Given the description of an element on the screen output the (x, y) to click on. 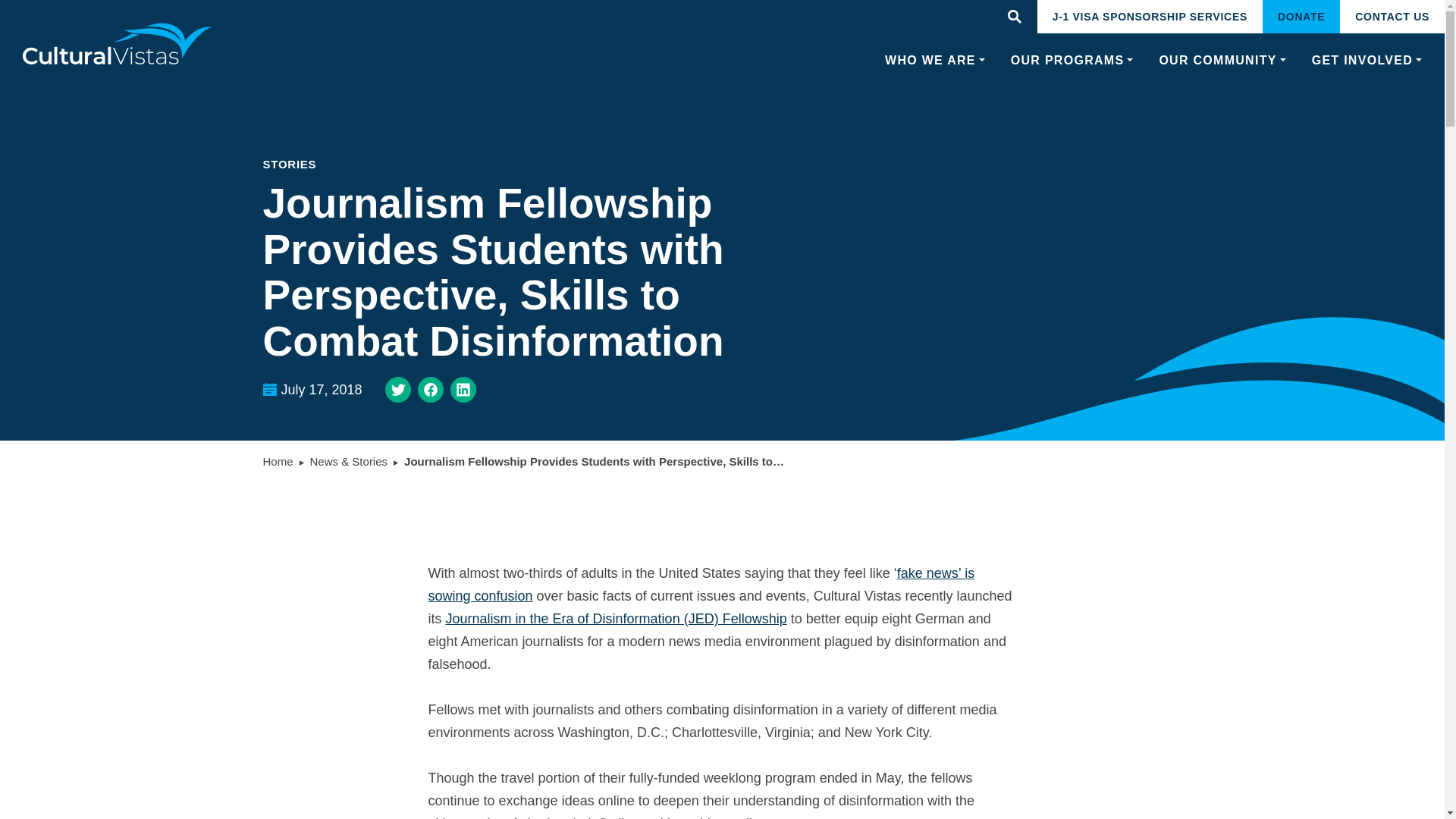
WHO WE ARE (935, 60)
GET INVOLVED (1366, 60)
J-1 VISA SPONSORSHIP SERVICES (1149, 16)
OUR COMMUNITY (1221, 60)
homepage (117, 43)
OUR PROGRAMS (1072, 60)
Home (277, 461)
Site Search (1013, 16)
DONATE (1300, 16)
